Given the description of an element on the screen output the (x, y) to click on. 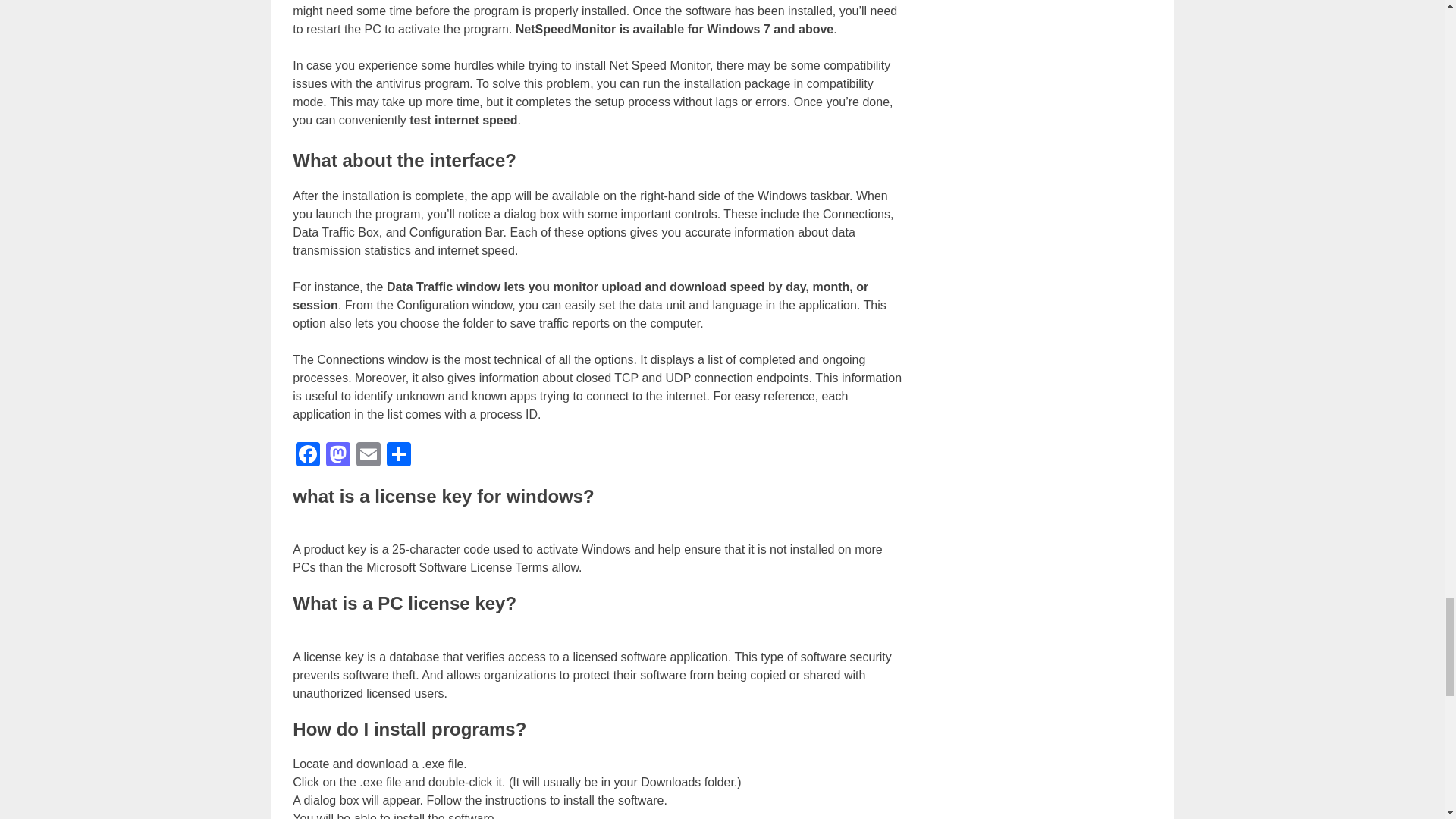
Facebook (307, 455)
Facebook (307, 455)
Mastodon (338, 455)
Email (368, 455)
Mastodon (338, 455)
Email (368, 455)
